Given the description of an element on the screen output the (x, y) to click on. 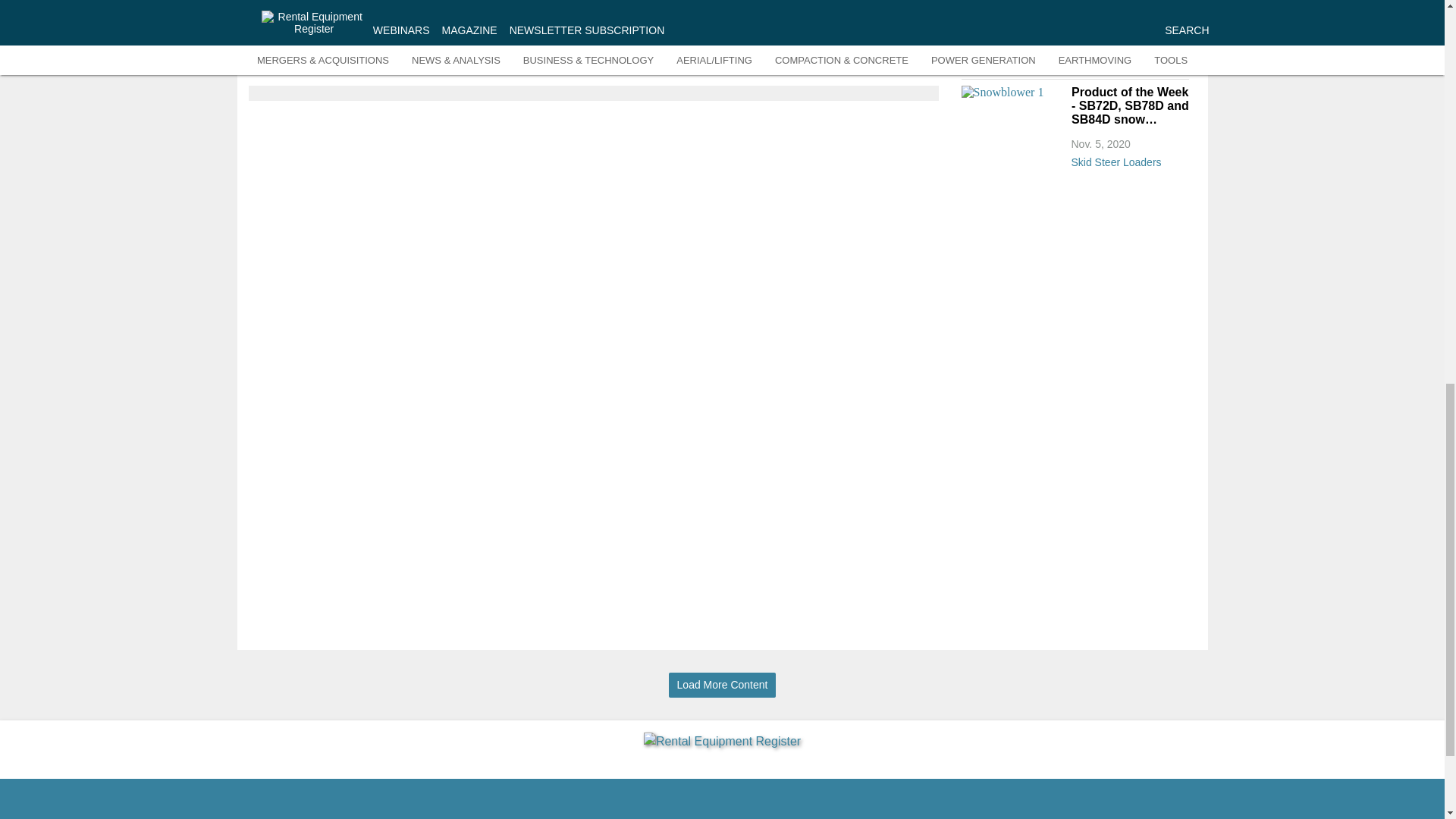
Snowblower 1 (1012, 113)
Skid Steer Loaders (1129, 63)
Bobcat T64 Industrial Grapple Dsc00658 19e1 Fc (1012, 23)
Product of the Week - SB72D, SB78D and SB84D snow blowers (1129, 105)
Load More Content (722, 684)
Skid Steer Loaders (1129, 158)
